Given the description of an element on the screen output the (x, y) to click on. 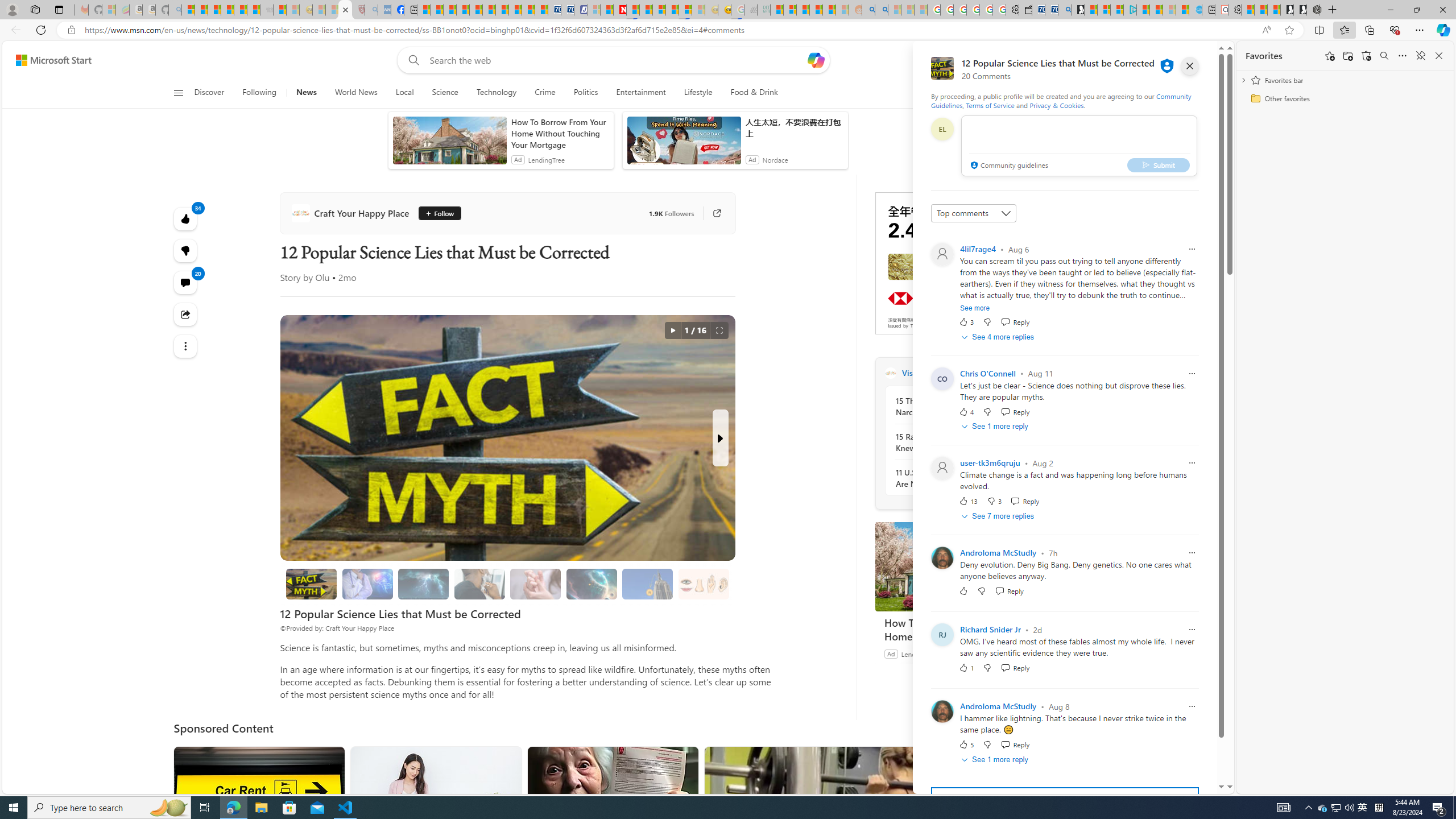
34 (184, 250)
anim-content (683, 144)
Full screen (719, 330)
Profile Picture (941, 711)
3 Like (965, 321)
Next Slide (719, 437)
4 Like (965, 411)
